Given the description of an element on the screen output the (x, y) to click on. 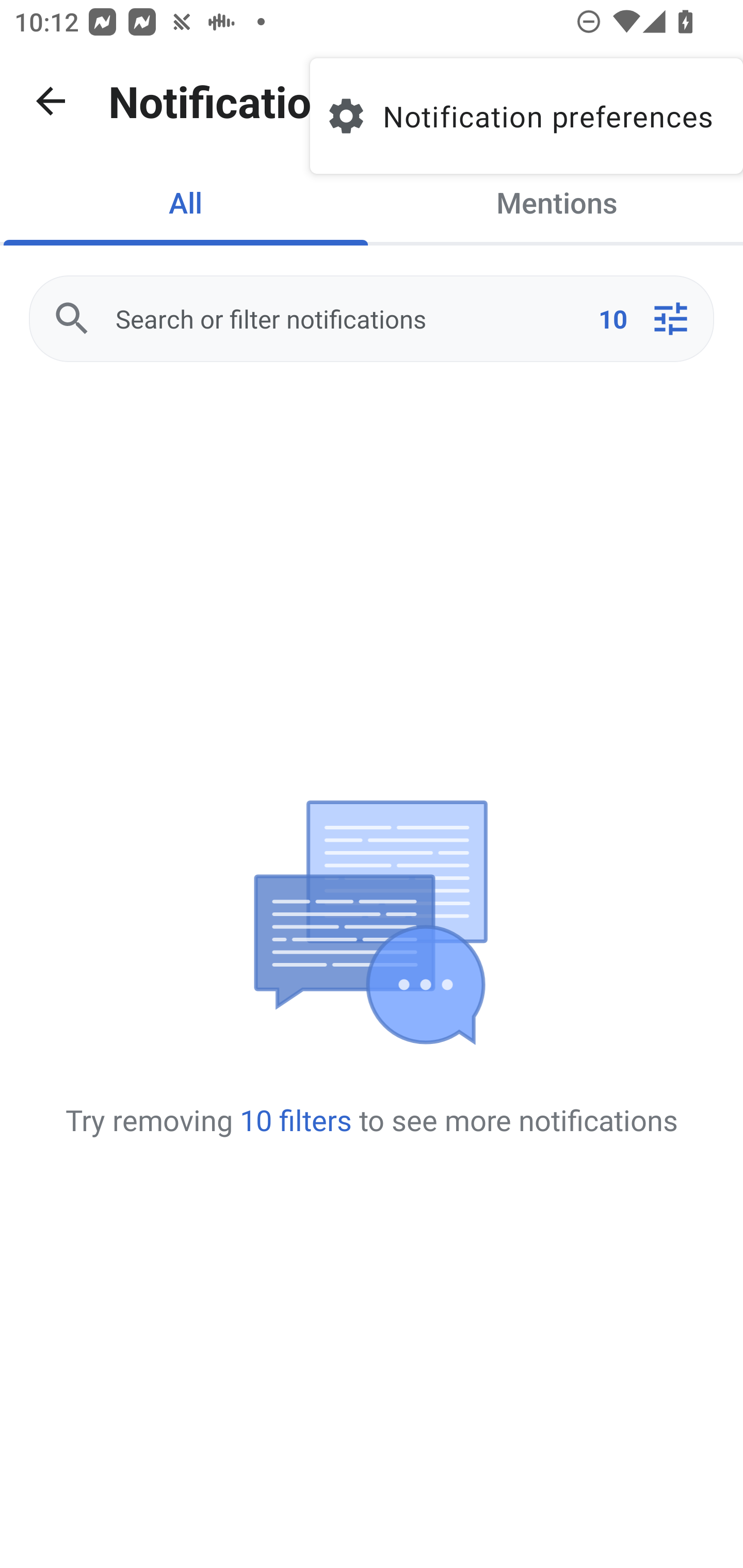
Notification preferences (526, 115)
